Given the description of an element on the screen output the (x, y) to click on. 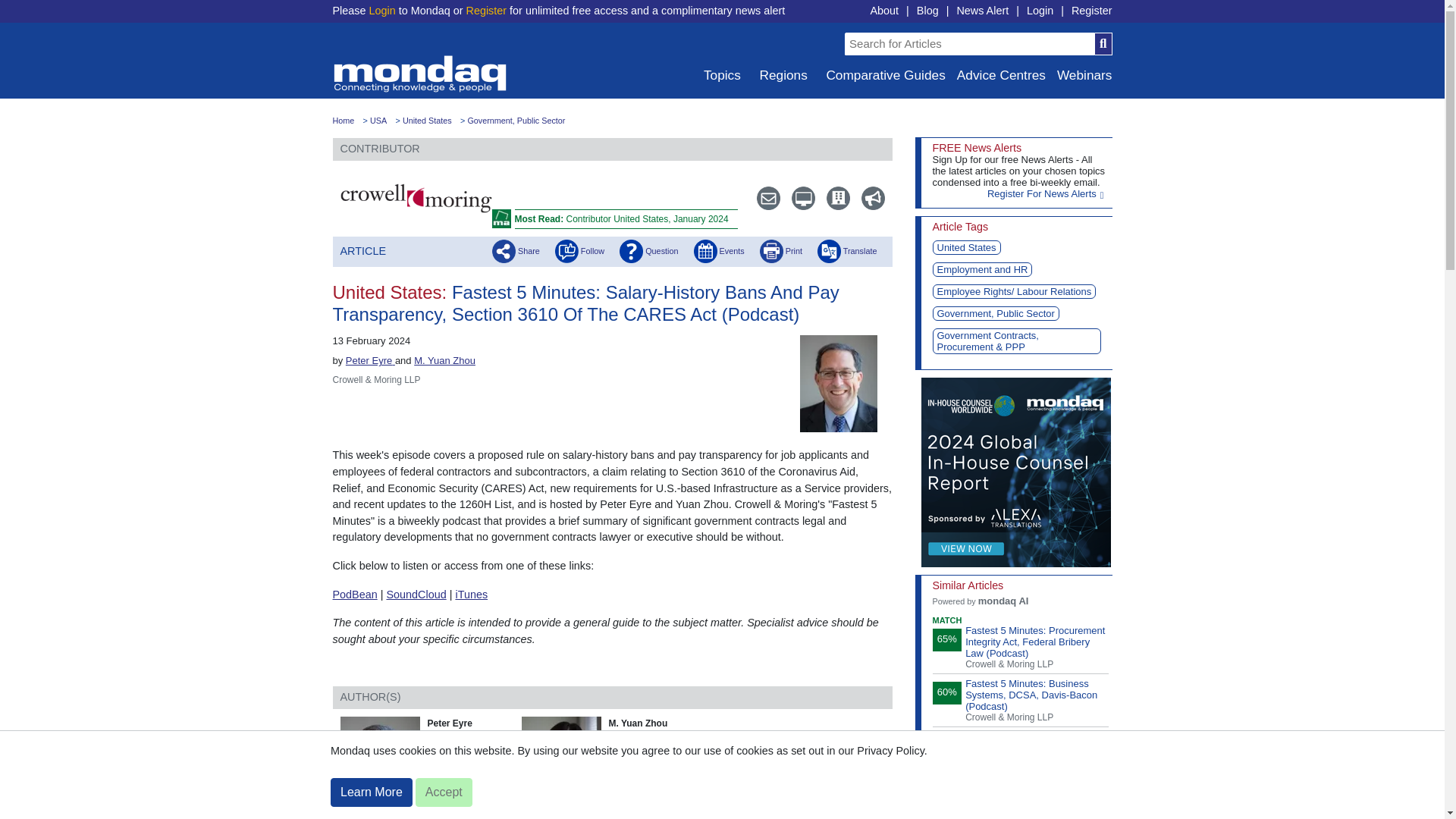
View this authors biography on their website (845, 381)
Blog (928, 10)
More from Peter  Eyre (443, 804)
Register (485, 10)
View this authors biography on their website (382, 766)
Login (1039, 10)
Topics   (720, 75)
Login (381, 10)
News Alert (982, 10)
About (883, 10)
View this authors biography on their website (444, 360)
Register (1091, 10)
View this authors biography on their website (564, 766)
Filter only by Government, Public Sector (515, 120)
View this authors biography on their website (370, 360)
